Given the description of an element on the screen output the (x, y) to click on. 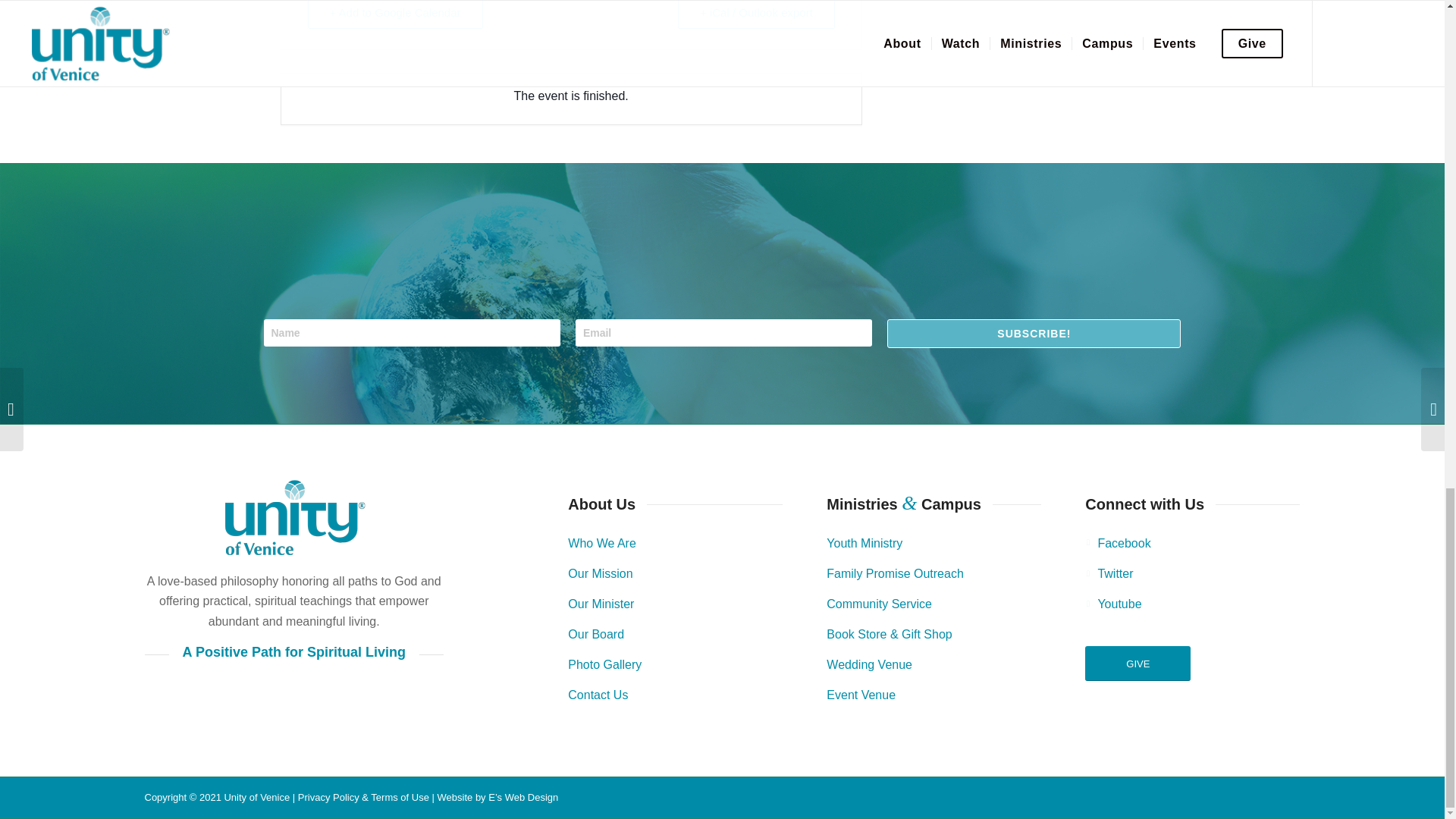
Who We Are (601, 543)
Unity of Venice Logo (294, 517)
Our Board (595, 634)
Our Minister (600, 603)
SUBSCRIBE! (1033, 333)
Our Mission (599, 573)
